Given the description of an element on the screen output the (x, y) to click on. 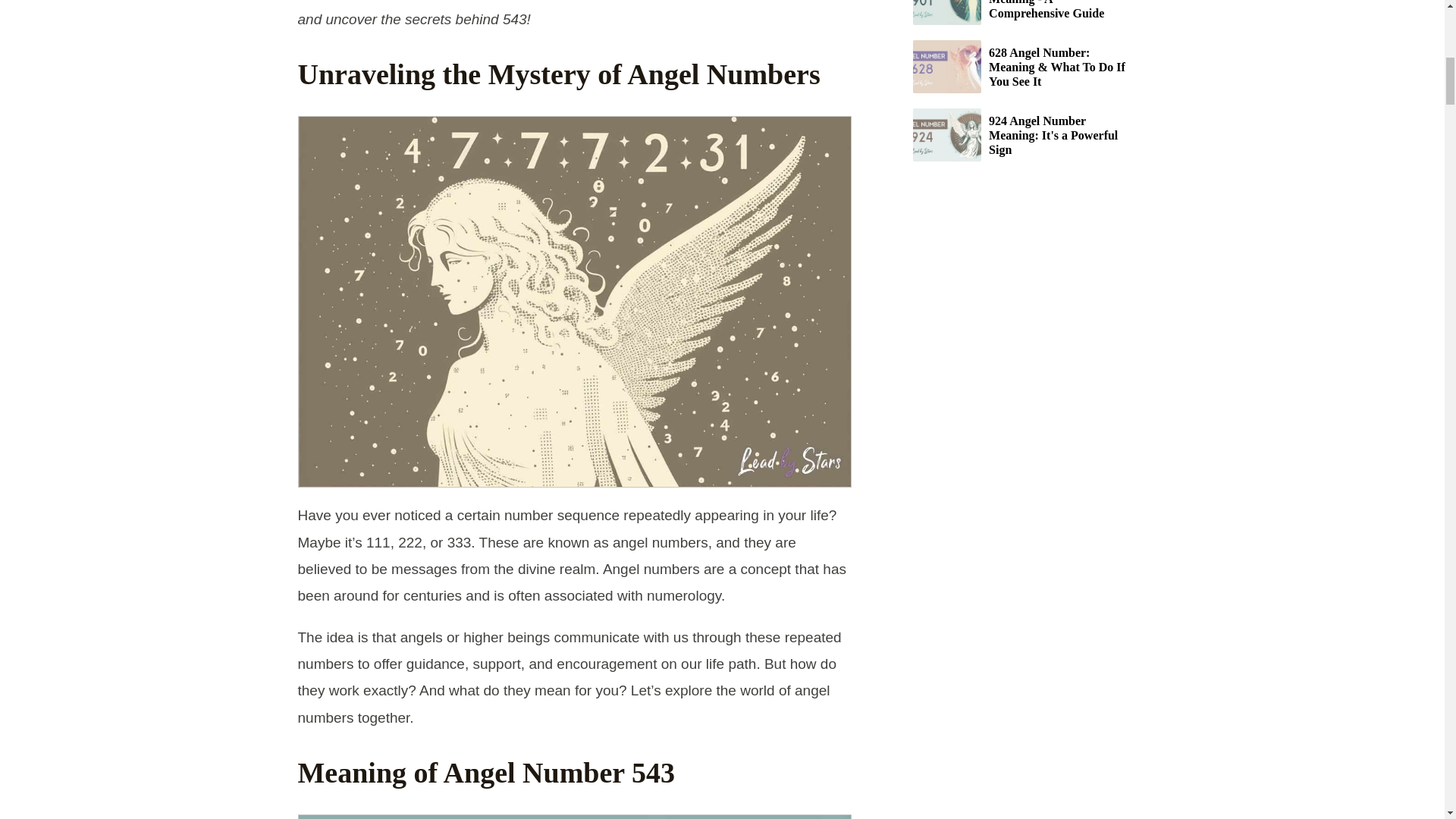
924 Angel Number Meaning: It's a Powerful Sign (1021, 134)
901 Angel Number Meaning - A Comprehensive Guide (1021, 12)
